Given the description of an element on the screen output the (x, y) to click on. 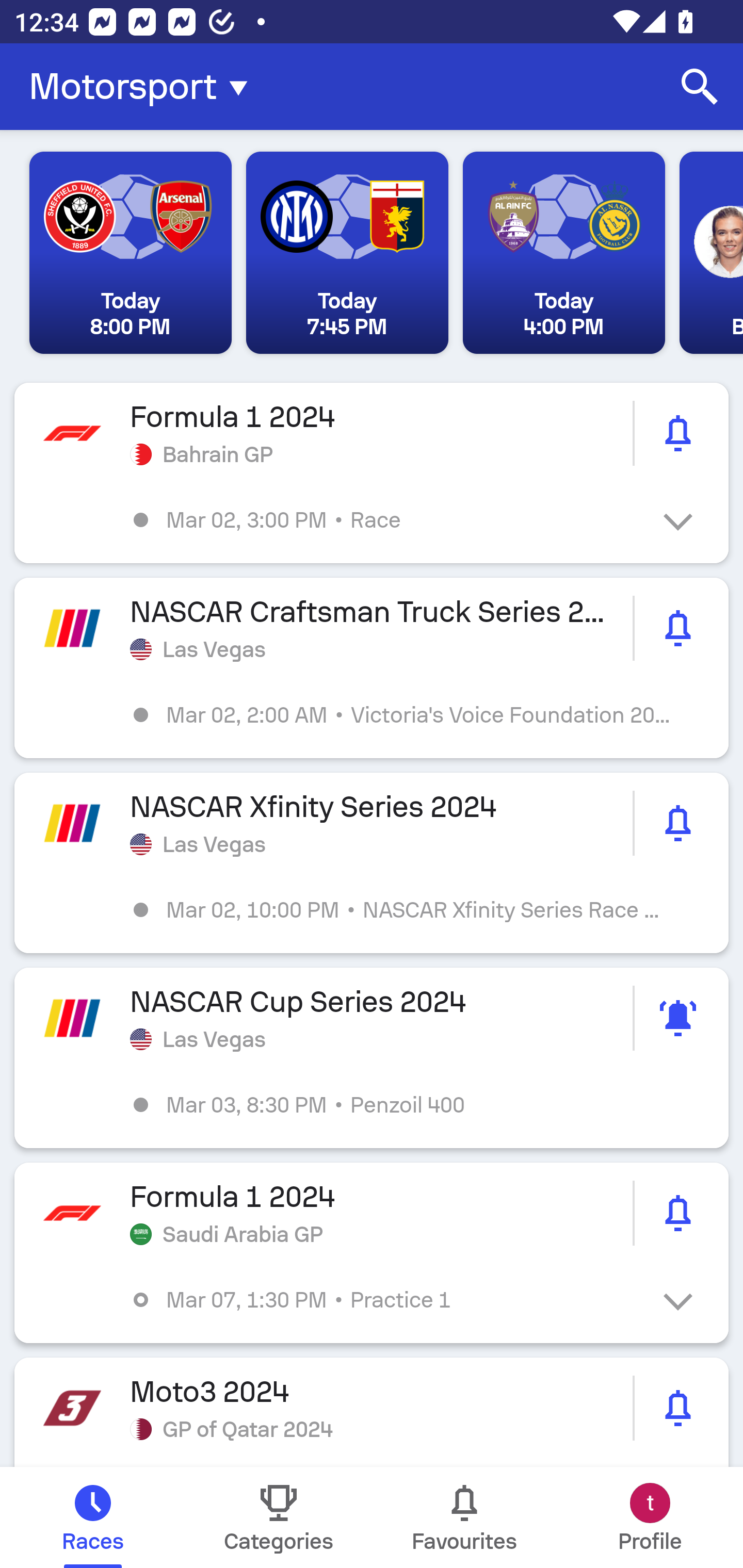
Motorsport (144, 86)
Search (699, 86)
Today
8:00 PM (130, 253)
Today
7:45 PM (346, 253)
Today
4:00 PM (563, 253)
Mar 02, 3:00 PM • Race (385, 519)
Mar 07, 1:30 PM • Practice 1 (385, 1299)
Moto3 2024 GP of Qatar 2024 picture (371, 1412)
Categories (278, 1517)
Favourites (464, 1517)
Profile (650, 1517)
